Given the description of an element on the screen output the (x, y) to click on. 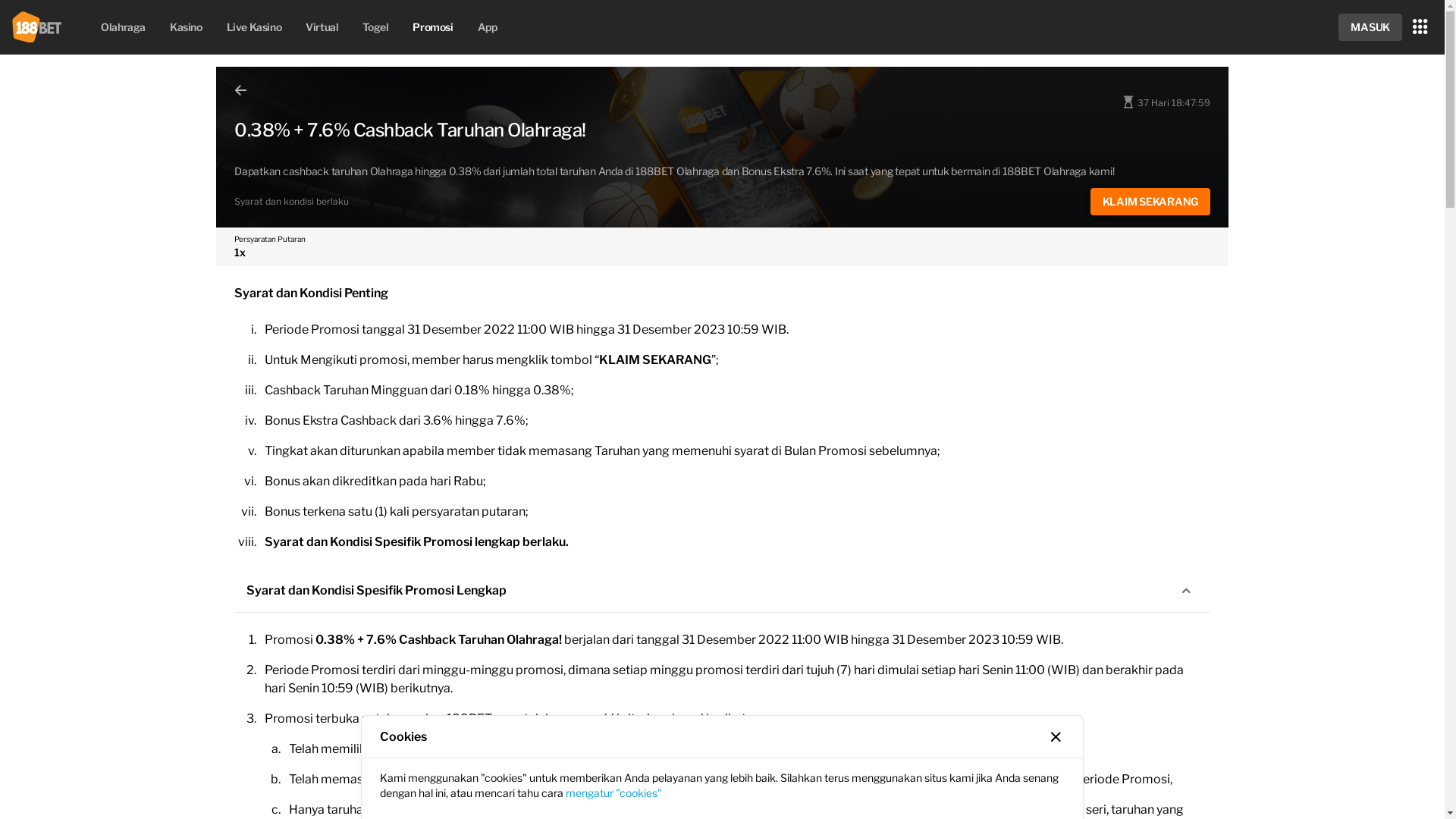
mengatur "cookies" Element type: text (613, 792)
Live Kasino Element type: text (254, 26)
KLAIM SEKARANG Element type: text (1150, 201)
Promosi Element type: text (432, 26)
Kasino Element type: text (185, 26)
MASUK Element type: text (1370, 26)
App Element type: text (487, 26)
Togel Element type: text (375, 26)
Virtual Element type: text (321, 26)
Olahraga Element type: text (122, 26)
